Given the description of an element on the screen output the (x, y) to click on. 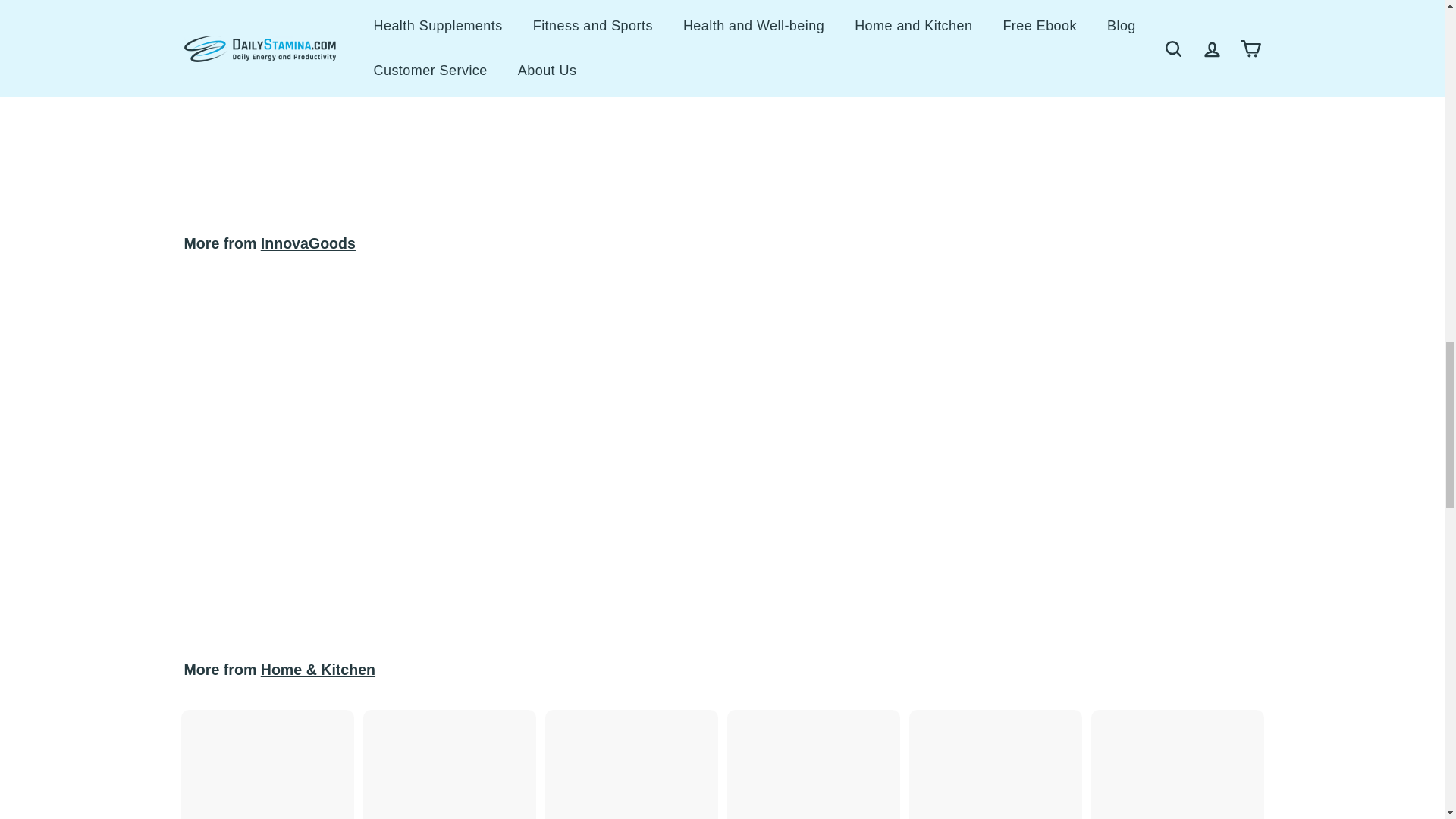
InnovaGoods (307, 243)
